Given the description of an element on the screen output the (x, y) to click on. 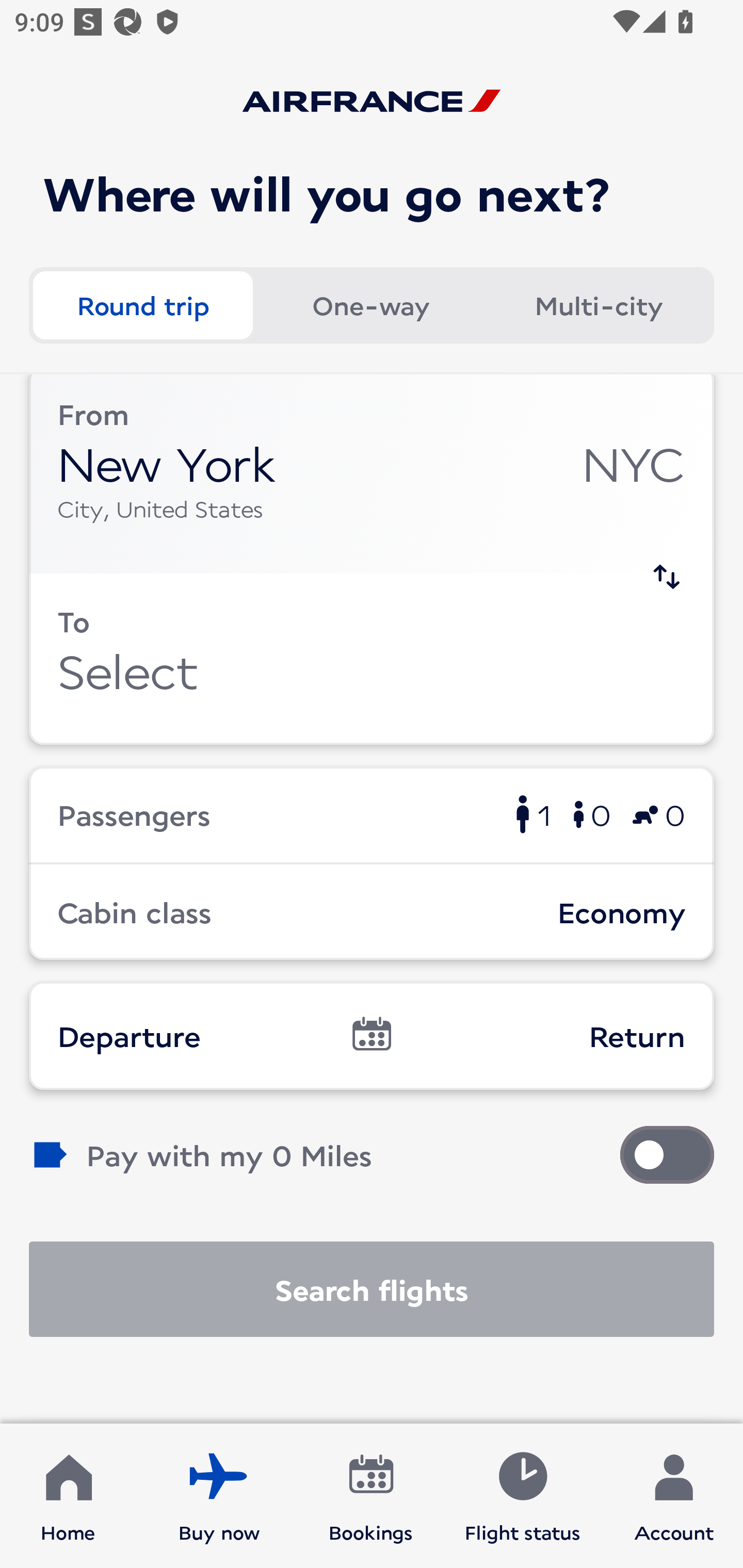
Round trip (142, 304)
One-way (370, 304)
Multi-city (598, 304)
From New York NYC City, United States (371, 473)
To Select (371, 658)
Passengers 1 0 0 (371, 814)
Cabin class Economy (371, 911)
Departure Return (371, 1035)
Search flights (371, 1289)
Home (68, 1495)
Bookings (370, 1495)
Flight status (522, 1495)
Account (674, 1495)
